Given the description of an element on the screen output the (x, y) to click on. 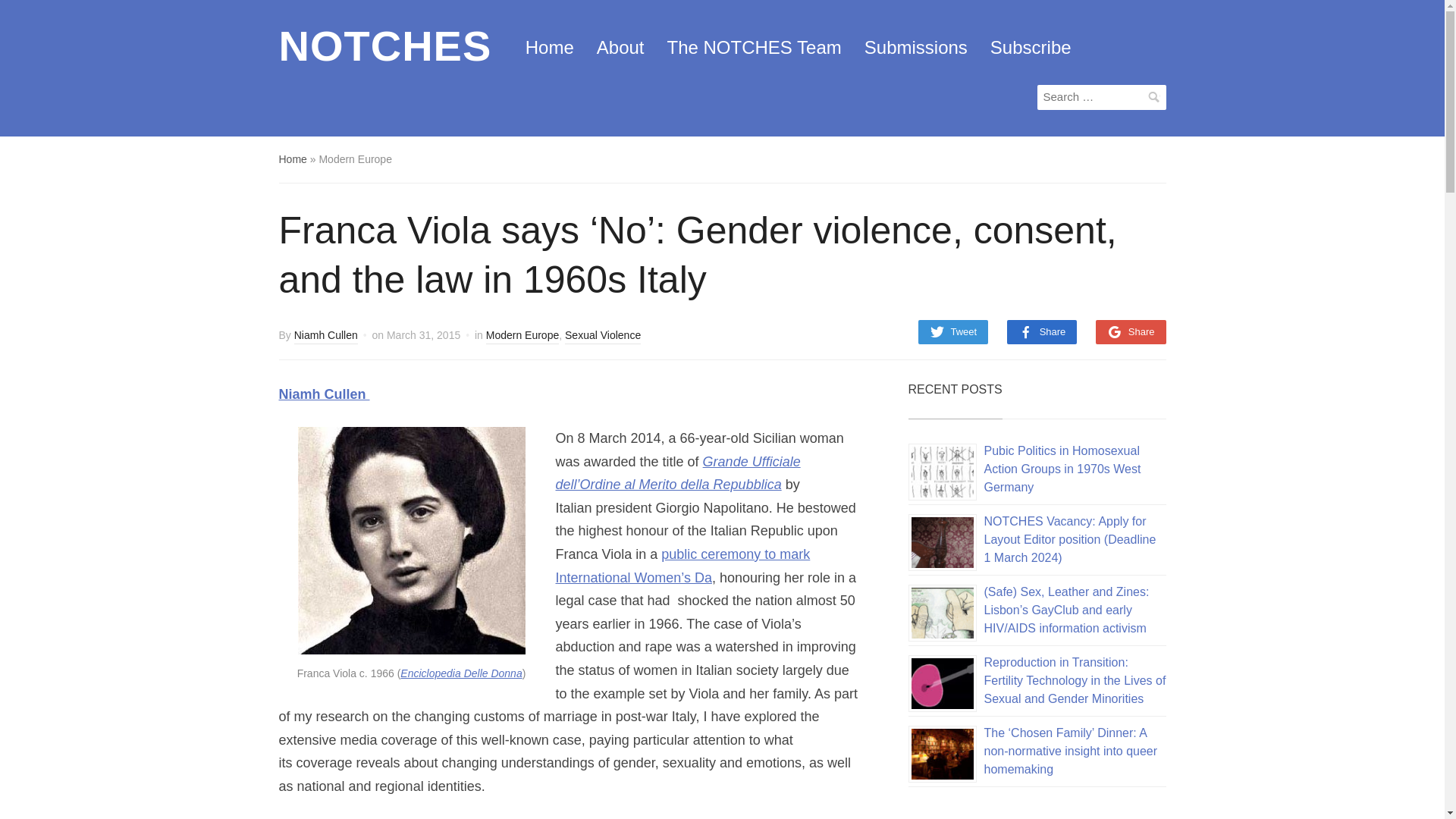
Search (1154, 96)
Posts by Niamh Cullen (326, 336)
Submissions (916, 48)
Tweet (952, 331)
Subscribe (1030, 48)
Niamh Cullen (326, 336)
Search (1154, 96)
Tweet this on Twitter (952, 331)
NOTCHES (385, 45)
Sexual Violence (602, 336)
The NOTCHES Team (753, 48)
Share (1131, 331)
Modern Europe (522, 336)
Home (549, 48)
Niamh Cullen  (324, 394)
